Given the description of an element on the screen output the (x, y) to click on. 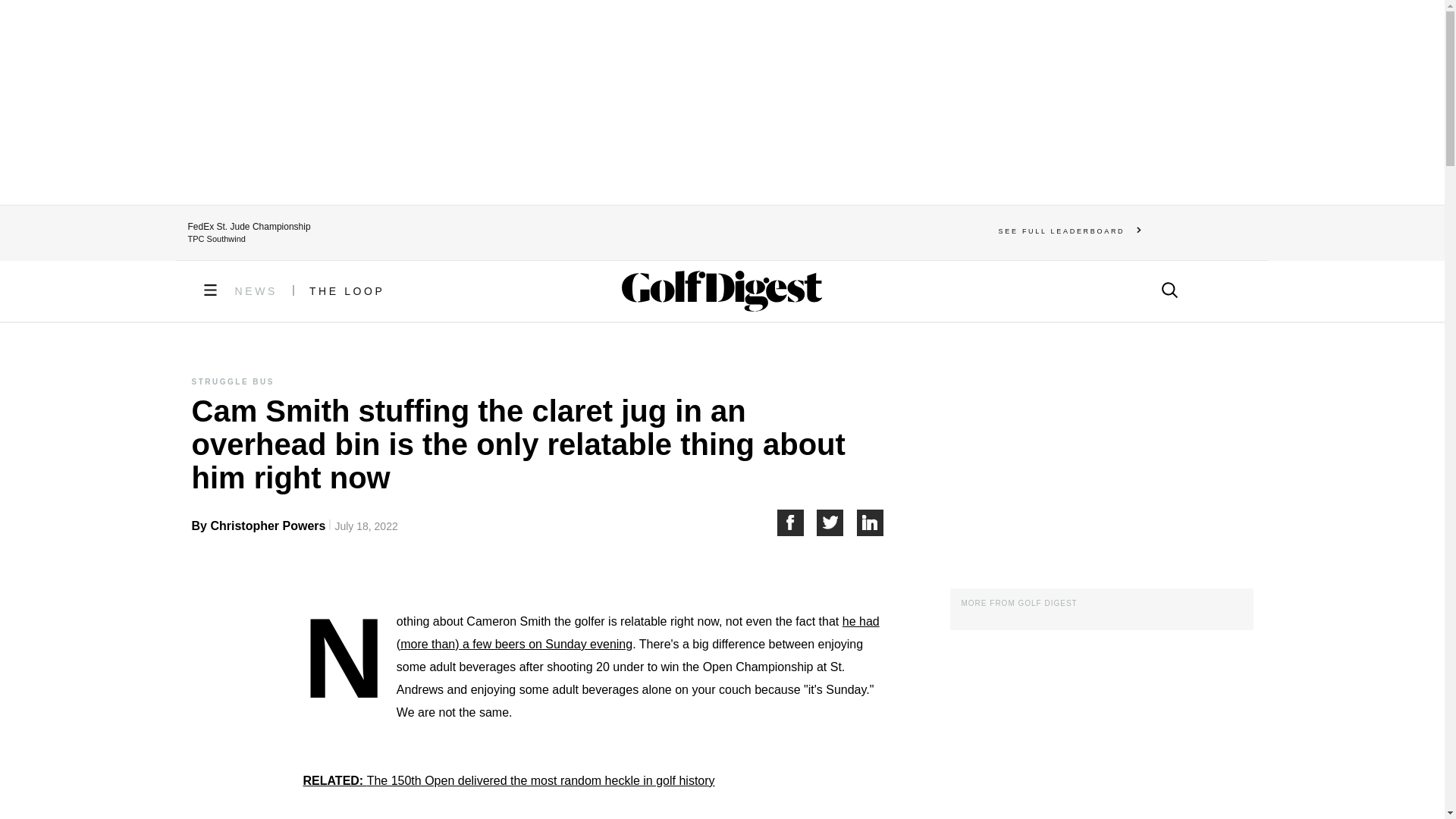
SEE FULL LEADERBOARD (1069, 230)
THE LOOP (346, 291)
Share on LinkedIn (870, 522)
NEWS (256, 291)
Share on Facebook (796, 522)
Share on Twitter (836, 522)
